Given the description of an element on the screen output the (x, y) to click on. 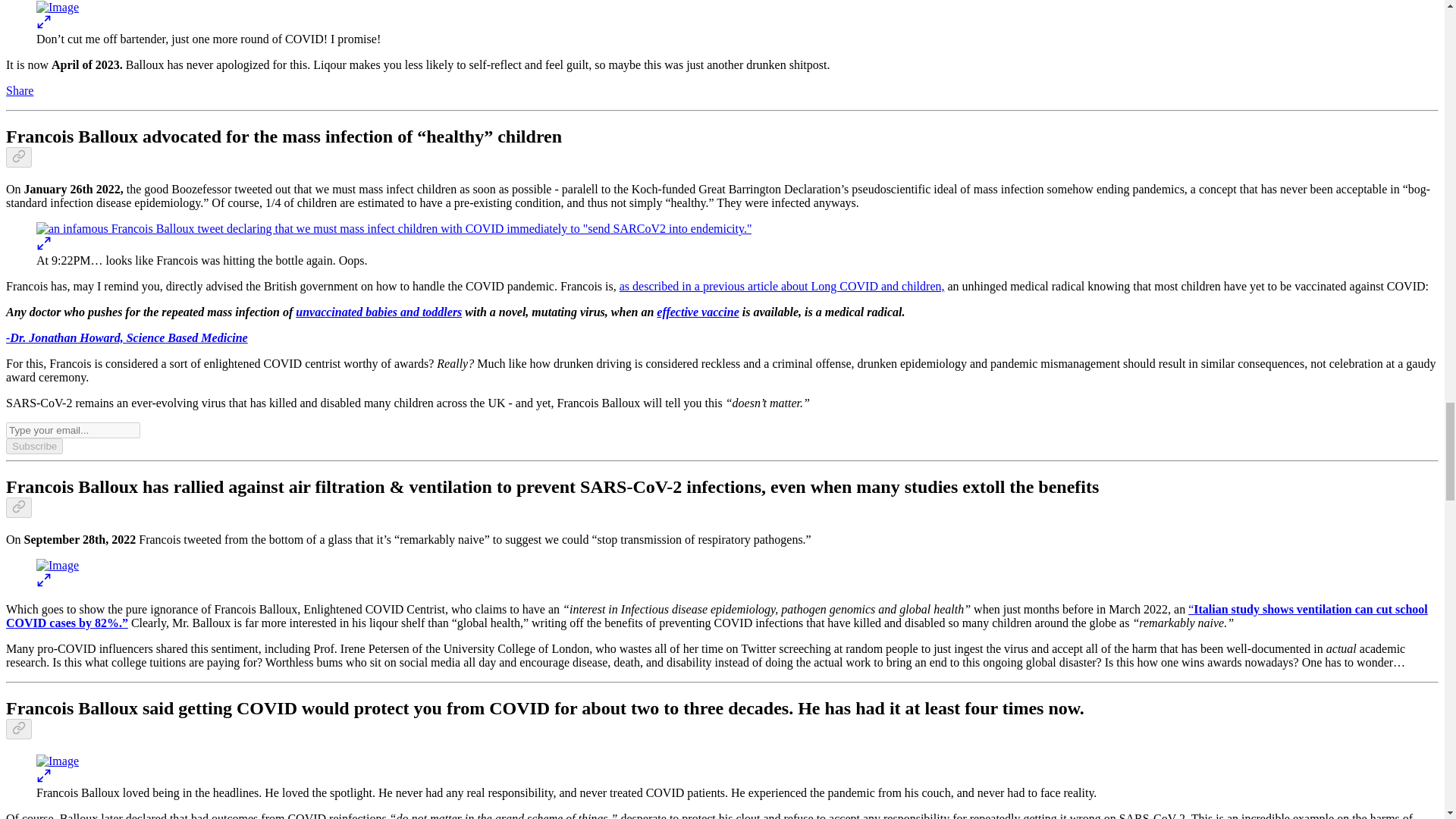
Image (57, 565)
Image (57, 7)
Share (19, 90)
Image (57, 761)
